Given the description of an element on the screen output the (x, y) to click on. 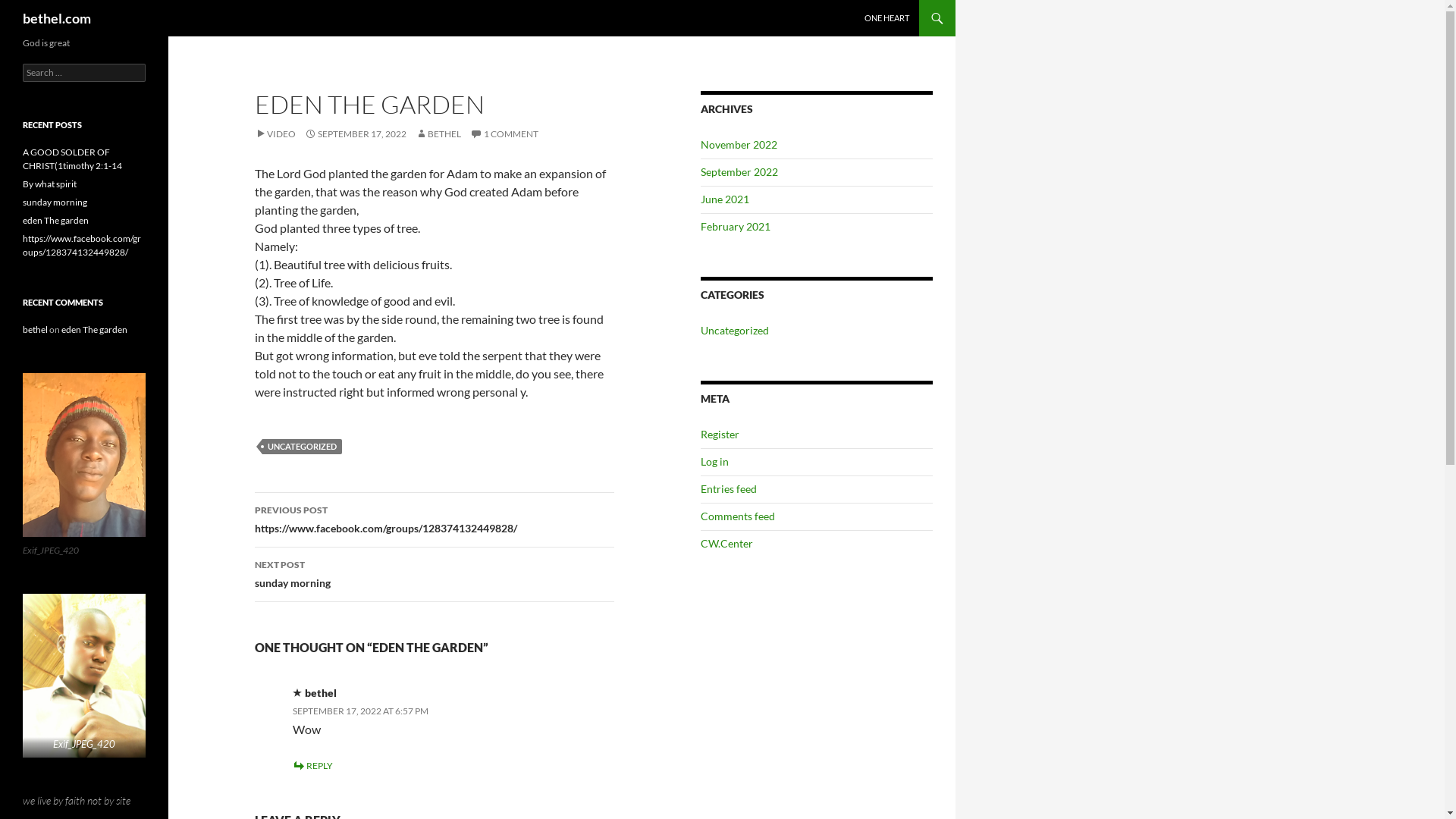
Comments feed Element type: text (737, 515)
bethel Element type: text (34, 329)
SEPTEMBER 17, 2022 AT 6:57 PM Element type: text (360, 710)
September 2022 Element type: text (739, 171)
A GOOD SOLDER OF CHRIST(1timothy 2:1-14 Element type: text (72, 158)
bethel Element type: text (320, 692)
CW.Center Element type: text (726, 542)
Uncategorized Element type: text (734, 329)
SEPTEMBER 17, 2022 Element type: text (355, 133)
eden The garden Element type: text (55, 219)
February 2021 Element type: text (735, 225)
eden The garden Element type: text (94, 329)
VIDEO Element type: text (274, 133)
bethel.com Element type: text (56, 18)
Log in Element type: text (714, 461)
1 COMMENT Element type: text (504, 133)
Register Element type: text (719, 433)
sunday morning Element type: text (54, 201)
UNCATEGORIZED Element type: text (302, 446)
https://www.facebook.com/groups/128374132449828/ Element type: text (81, 244)
NEXT POST
sunday morning Element type: text (434, 574)
REPLY Element type: text (312, 765)
BETHEL Element type: text (438, 133)
ONE HEART Element type: text (886, 18)
Entries feed Element type: text (728, 488)
By what spirit Element type: text (49, 183)
June 2021 Element type: text (724, 198)
November 2022 Element type: text (738, 144)
Search Element type: text (29, 9)
